Given the description of an element on the screen output the (x, y) to click on. 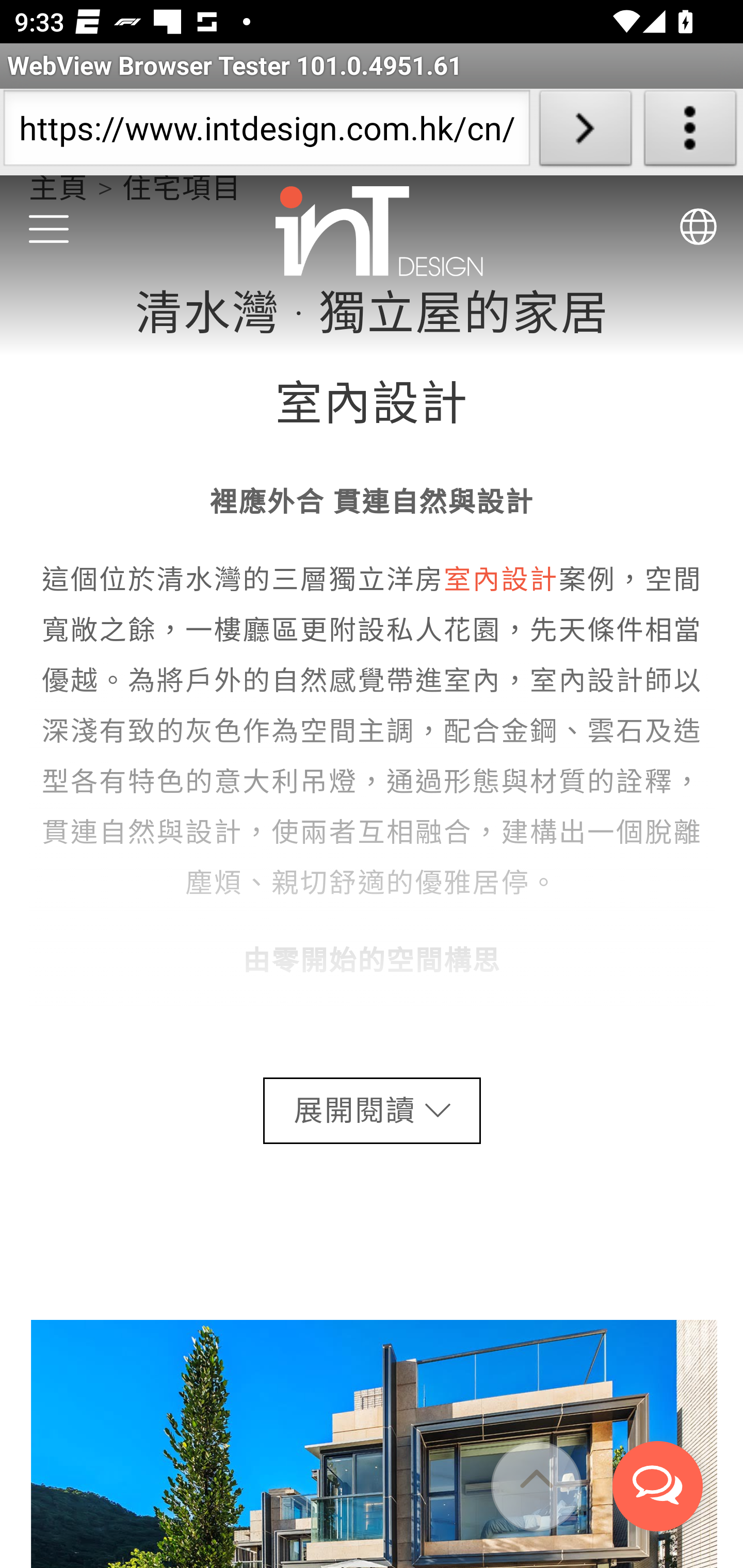
Load URL (585, 132)
About WebView (690, 132)
室內設計 (500, 581)
展開閱讀  (371, 1112)
TheWoods_interiordesign_5 (373, 1444)
Open messengers list (657, 1488)
 (536, 1487)
